Given the description of an element on the screen output the (x, y) to click on. 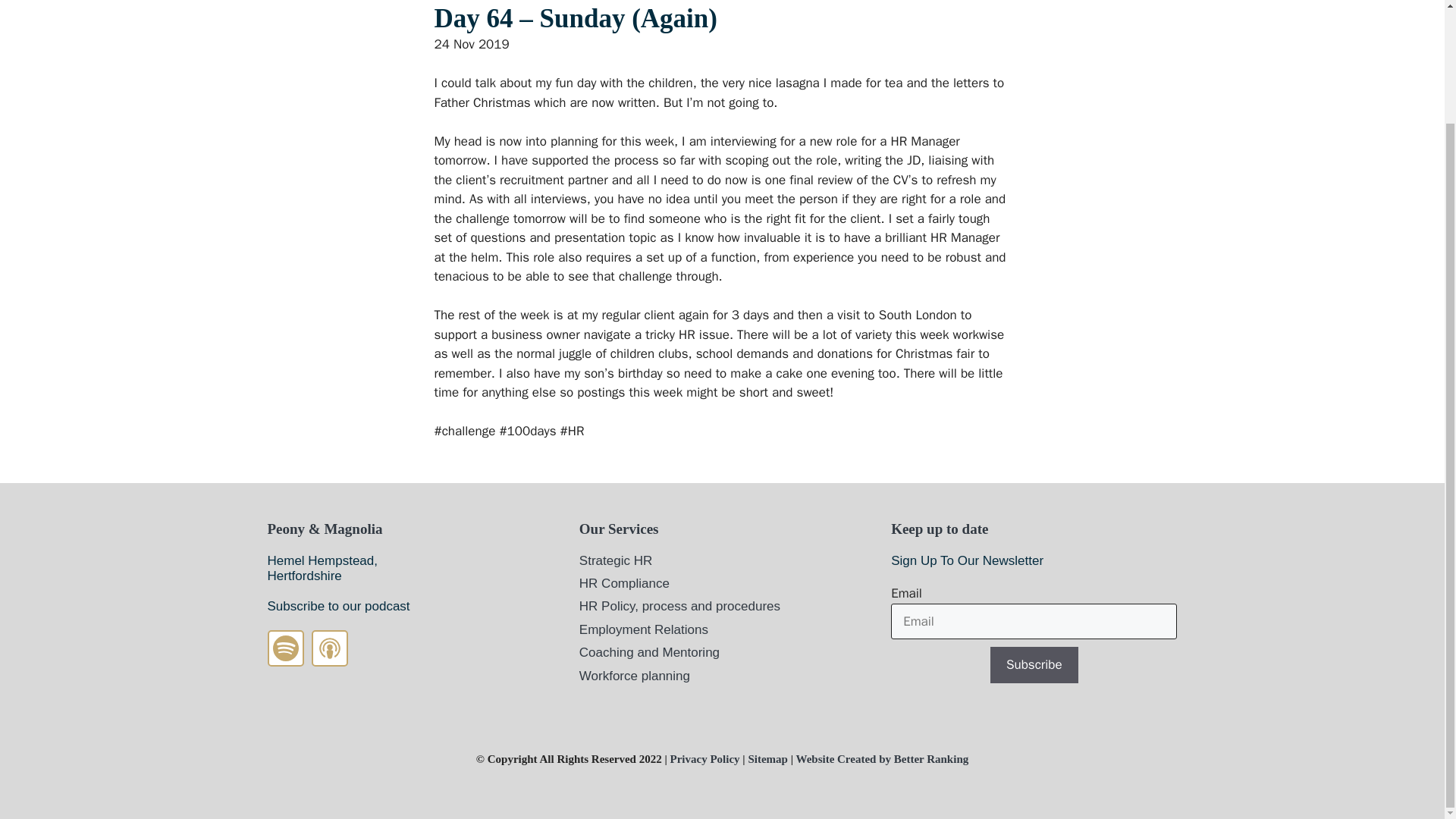
Subscribe (1034, 665)
Privacy Policy (704, 758)
Sitemap (767, 758)
Website Created by Better Ranking (881, 758)
